Given the description of an element on the screen output the (x, y) to click on. 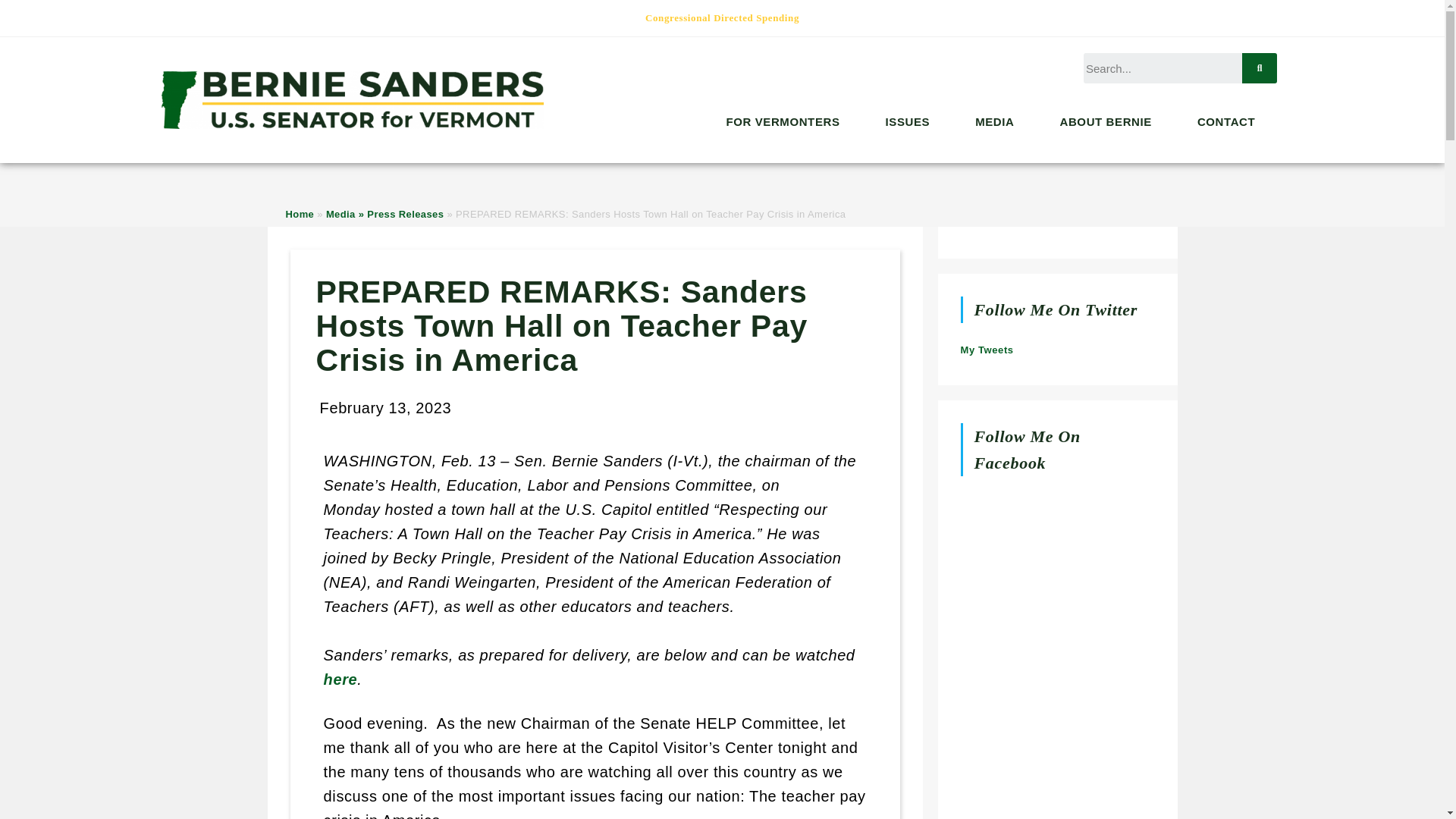
ISSUES (911, 121)
FOR VERMONTERS (785, 121)
MEDIA (997, 121)
ABOUT BERNIE (1109, 121)
Congressional Directed Spending (722, 17)
CONTACT (1230, 121)
